Given the description of an element on the screen output the (x, y) to click on. 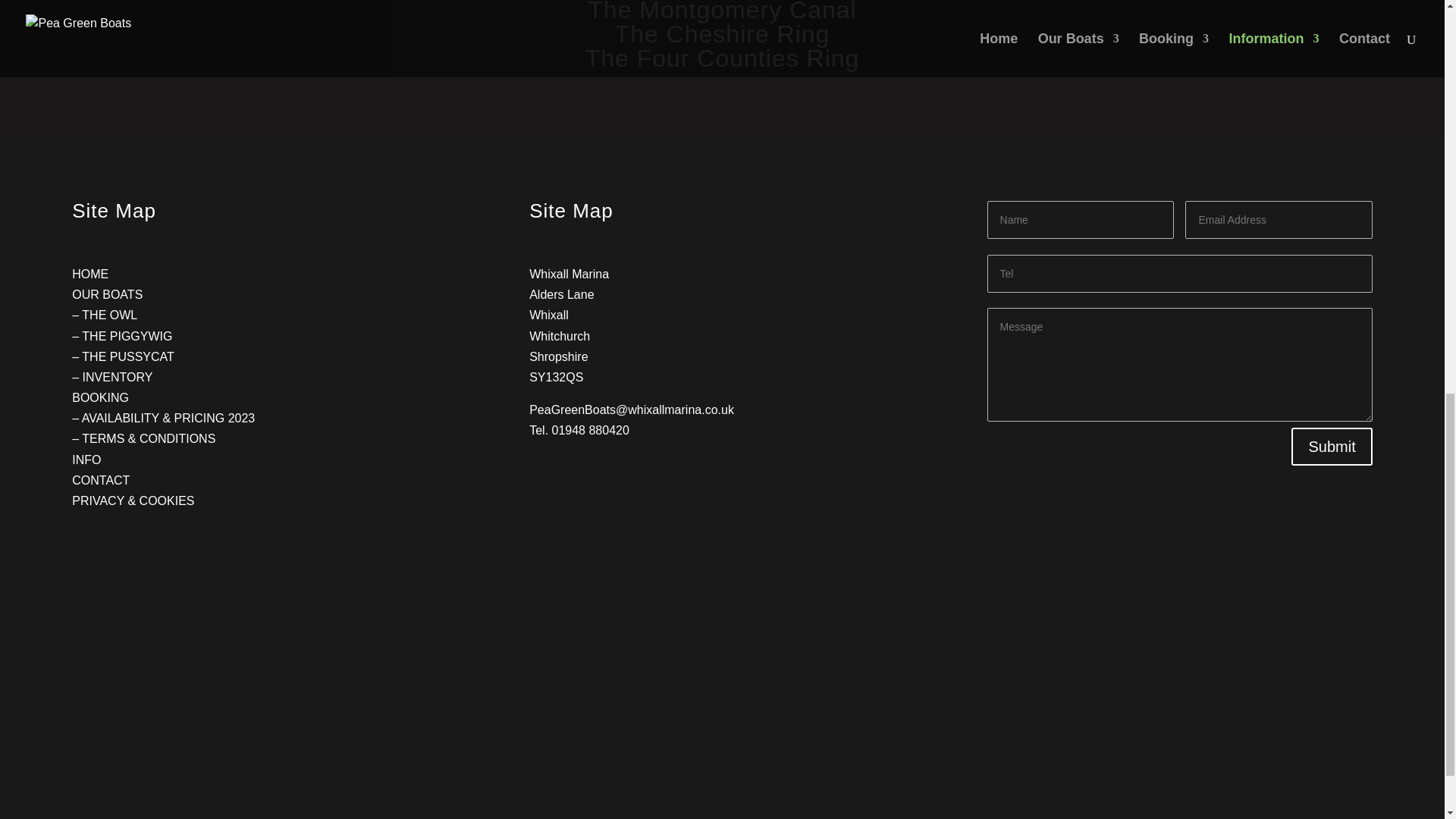
The Montgomery Canal (722, 11)
THE PUSSYCAT (127, 356)
HOME (89, 273)
BOOKING (100, 397)
THE PIGGYWIG (126, 336)
OUR BOATS (106, 294)
The Cheshire Ring (721, 33)
The Four Counties Ring (722, 58)
INVENTORY (117, 377)
THE OWL (108, 314)
